Given the description of an element on the screen output the (x, y) to click on. 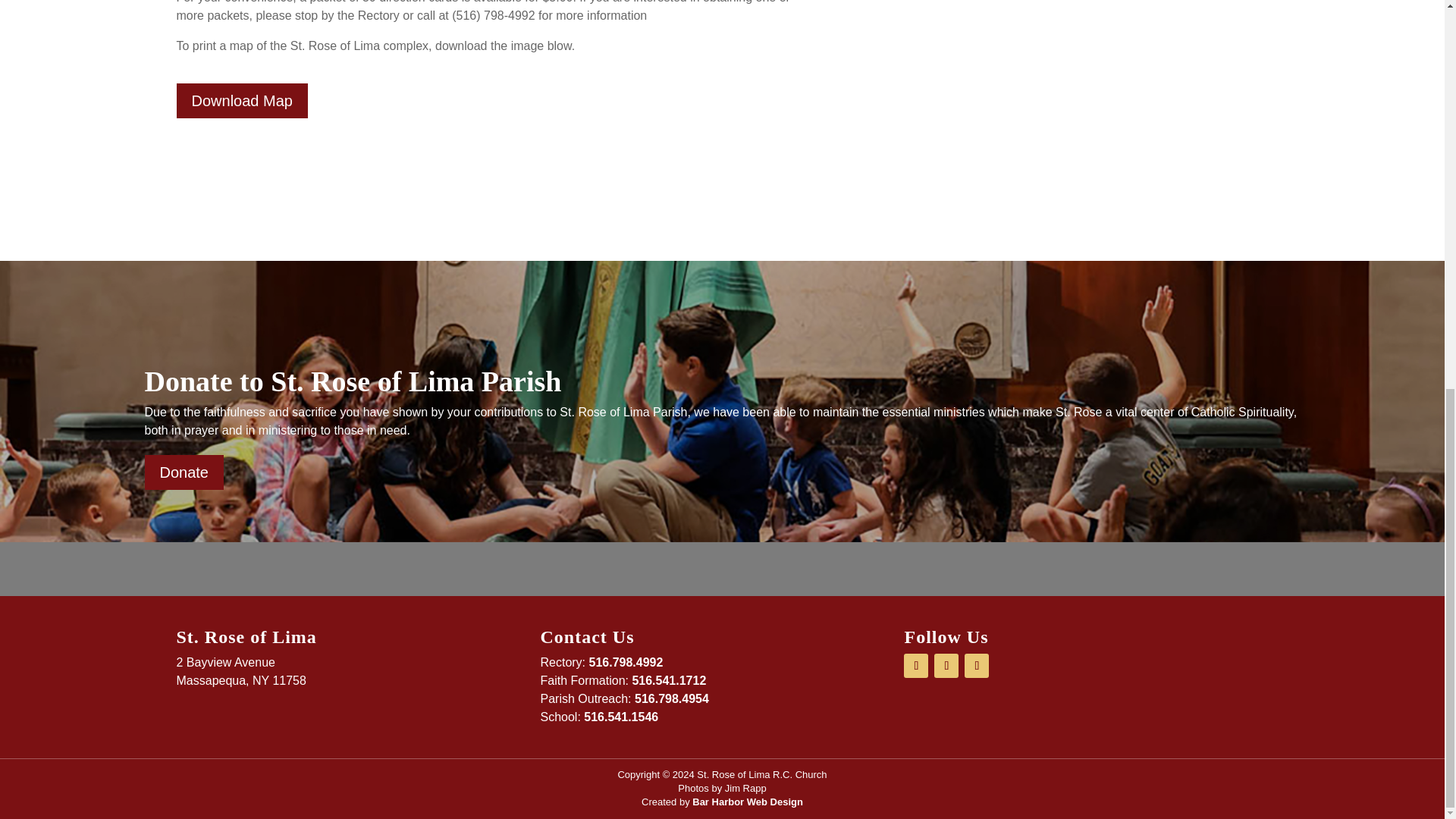
Follow on Instagram (975, 665)
Follow on Youtube (946, 665)
Follow on Facebook (916, 665)
